Given the description of an element on the screen output the (x, y) to click on. 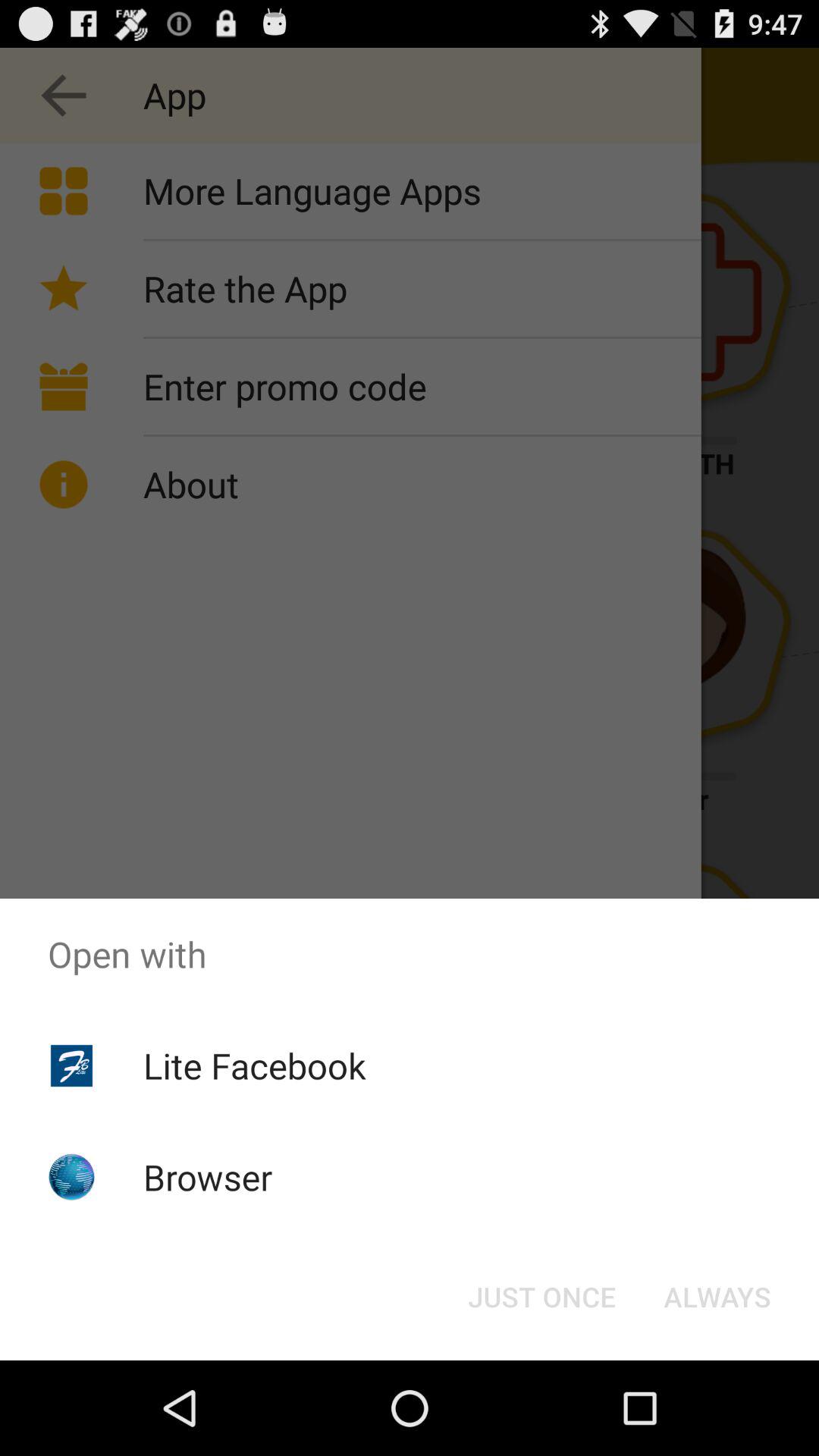
press button next to always button (541, 1296)
